Given the description of an element on the screen output the (x, y) to click on. 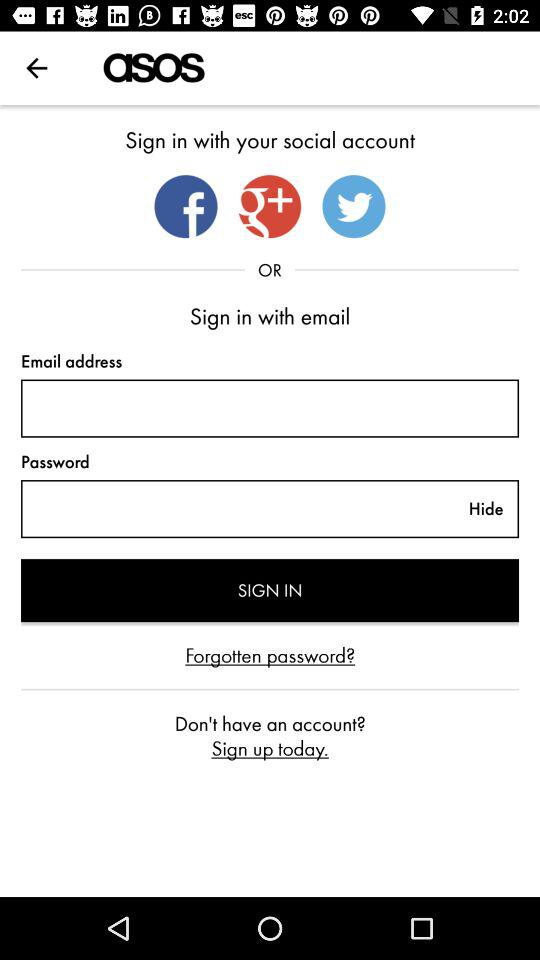
cre a new email account (270, 408)
